Given the description of an element on the screen output the (x, y) to click on. 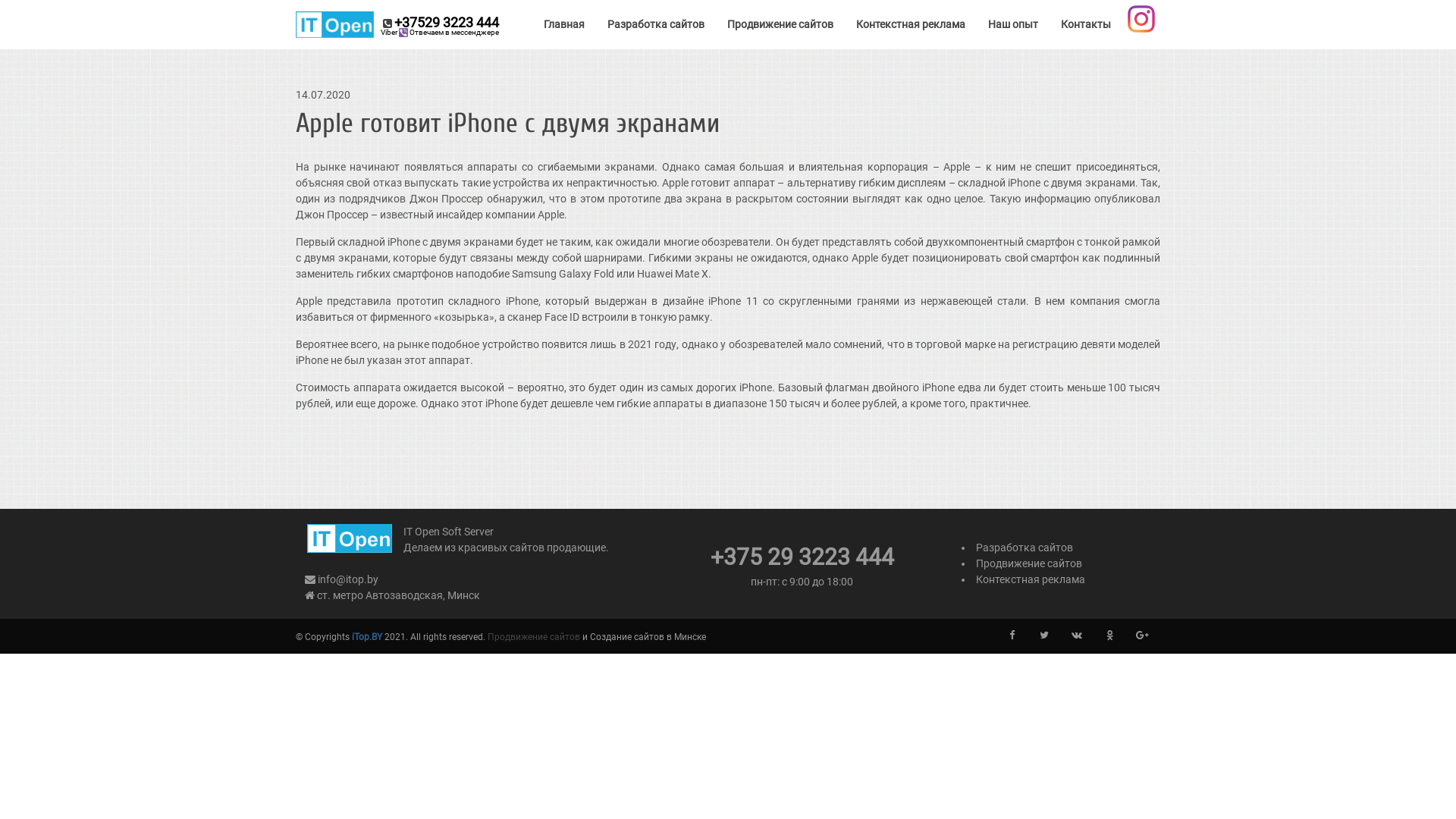
    +37529 3223 444 Element type: text (396, 24)
+375 29 3223 444 Element type: text (801, 561)
Viber Element type: hover (402, 32)
